Given the description of an element on the screen output the (x, y) to click on. 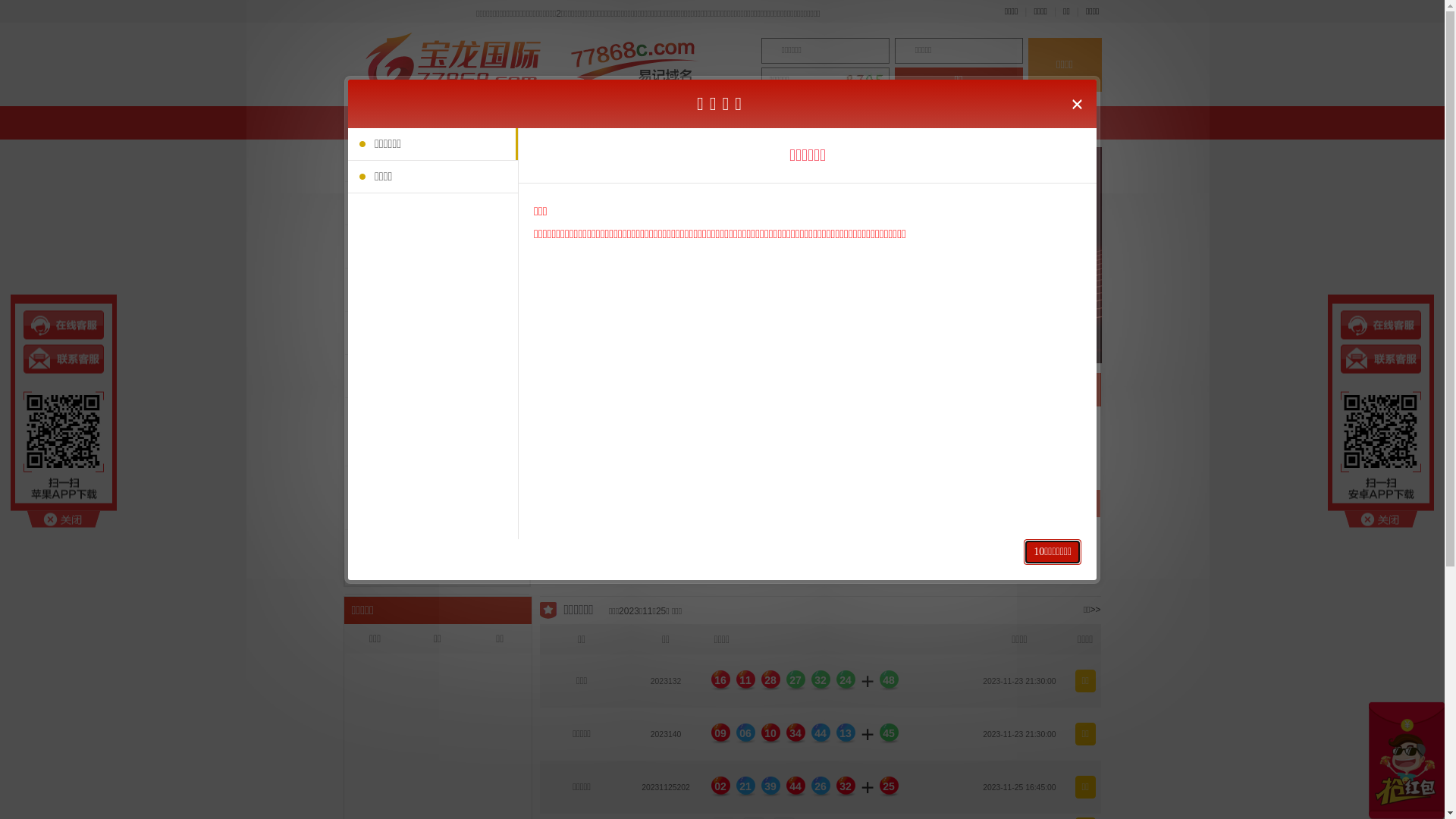
+ Element type: text (622, 553)
